Given the description of an element on the screen output the (x, y) to click on. 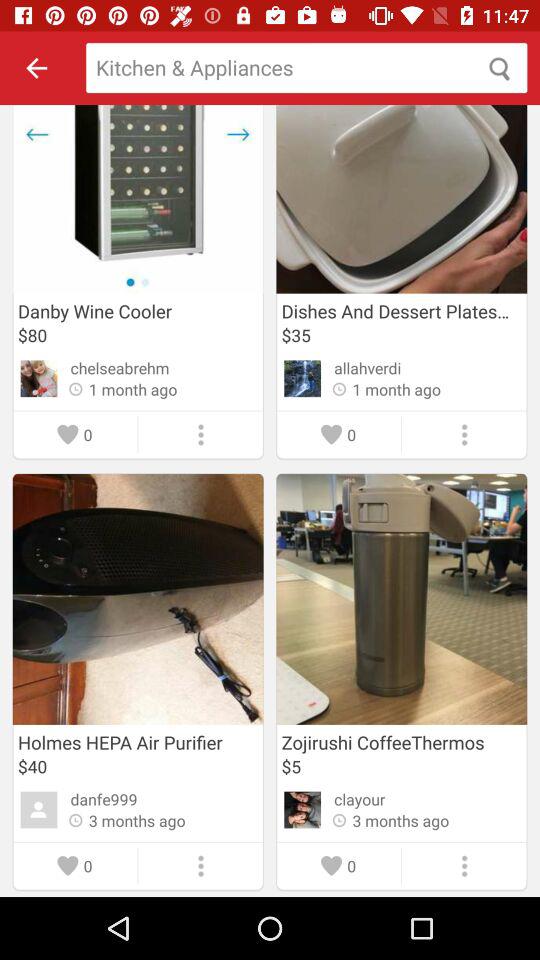
search box (306, 67)
